Given the description of an element on the screen output the (x, y) to click on. 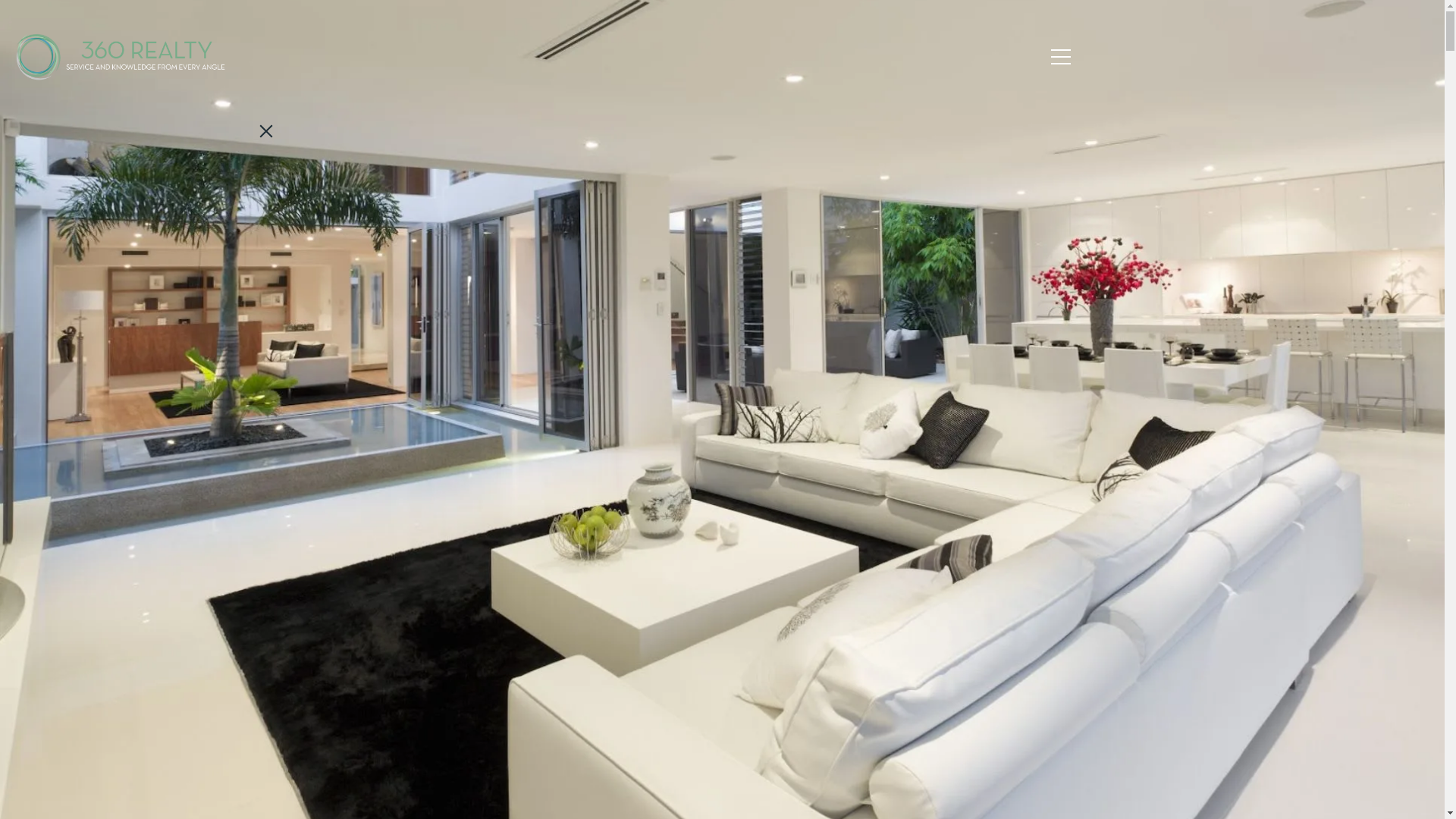
Testimonials Element type: text (151, 570)
Home Valuation Element type: text (151, 398)
Blog Element type: text (151, 614)
Contact Us Element type: text (151, 739)
Featured Properties Element type: text (150, 269)
Meet Our Team Element type: text (151, 312)
Home Search Element type: text (151, 355)
In The News Element type: text (151, 657)
Tampa Real Estate and Crypto Element type: text (151, 700)
Services Element type: text (151, 441)
South Tampa Neighborhoods Element type: text (151, 527)
Our resources Element type: text (151, 485)
Home Element type: text (151, 225)
